Given the description of an element on the screen output the (x, y) to click on. 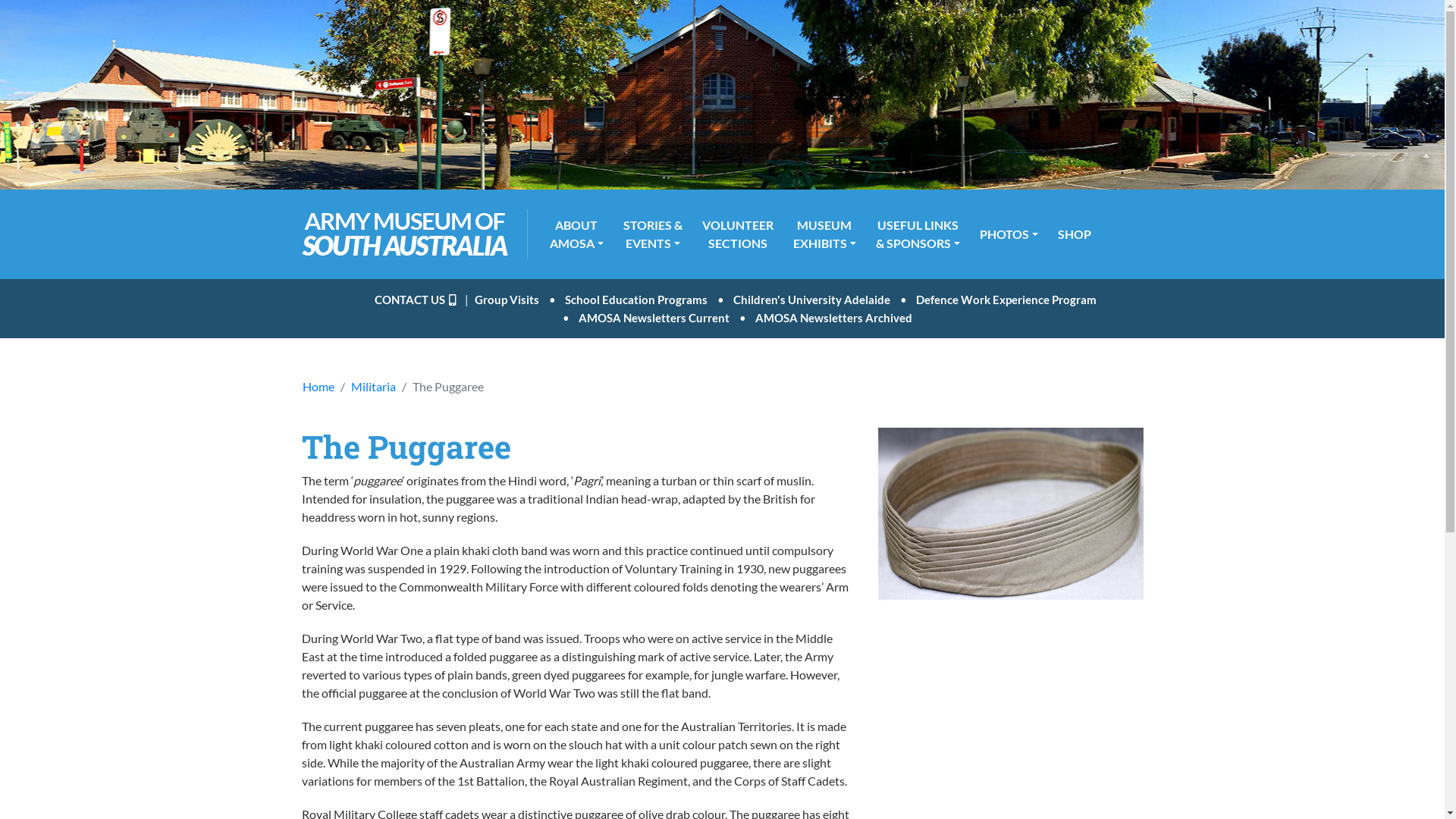
MUSEUM
EXHIBITS Element type: text (824, 234)
Children's University Adelaide Element type: text (811, 299)
AMOSA Newsletters Current Element type: text (653, 317)
SHOP Element type: text (1074, 234)
Militaria Element type: text (372, 386)
CONTACT US Element type: text (417, 299)
Group Visits Element type: text (506, 299)
VOLUNTEER
SECTIONS Element type: text (737, 234)
Defence Work Experience Program Element type: text (1006, 299)
School Education Programs Element type: text (635, 299)
STORIES &
EVENTS Element type: text (652, 234)
ABOUT
AMOSA Element type: text (576, 234)
PHOTOS Element type: text (1008, 234)
Home Element type: text (317, 386)
USEFUL LINKS
& SPONSORS Element type: text (917, 234)
AMOSA Newsletters Archived Element type: text (833, 317)
